Given the description of an element on the screen output the (x, y) to click on. 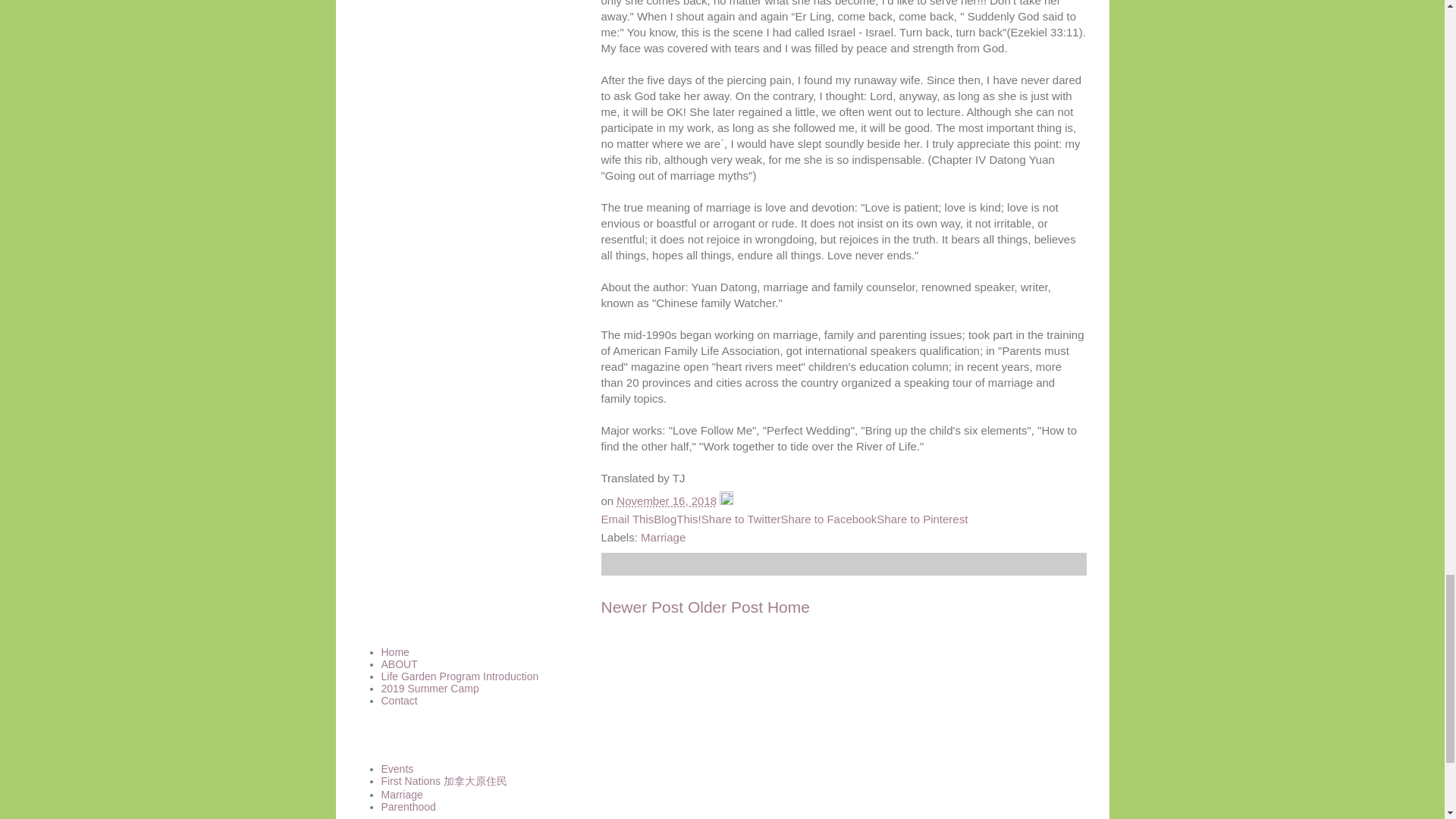
Newer Post (640, 606)
Email This (626, 518)
Home (788, 606)
Share to Pinterest (922, 518)
Email This (626, 518)
November 16, 2018 (665, 500)
BlogThis! (677, 518)
Newer Post (640, 606)
Share to Twitter (740, 518)
Share to Twitter (740, 518)
BlogThis! (677, 518)
Older Post (724, 606)
Older Post (724, 606)
Marriage (662, 536)
Share to Facebook (828, 518)
